Given the description of an element on the screen output the (x, y) to click on. 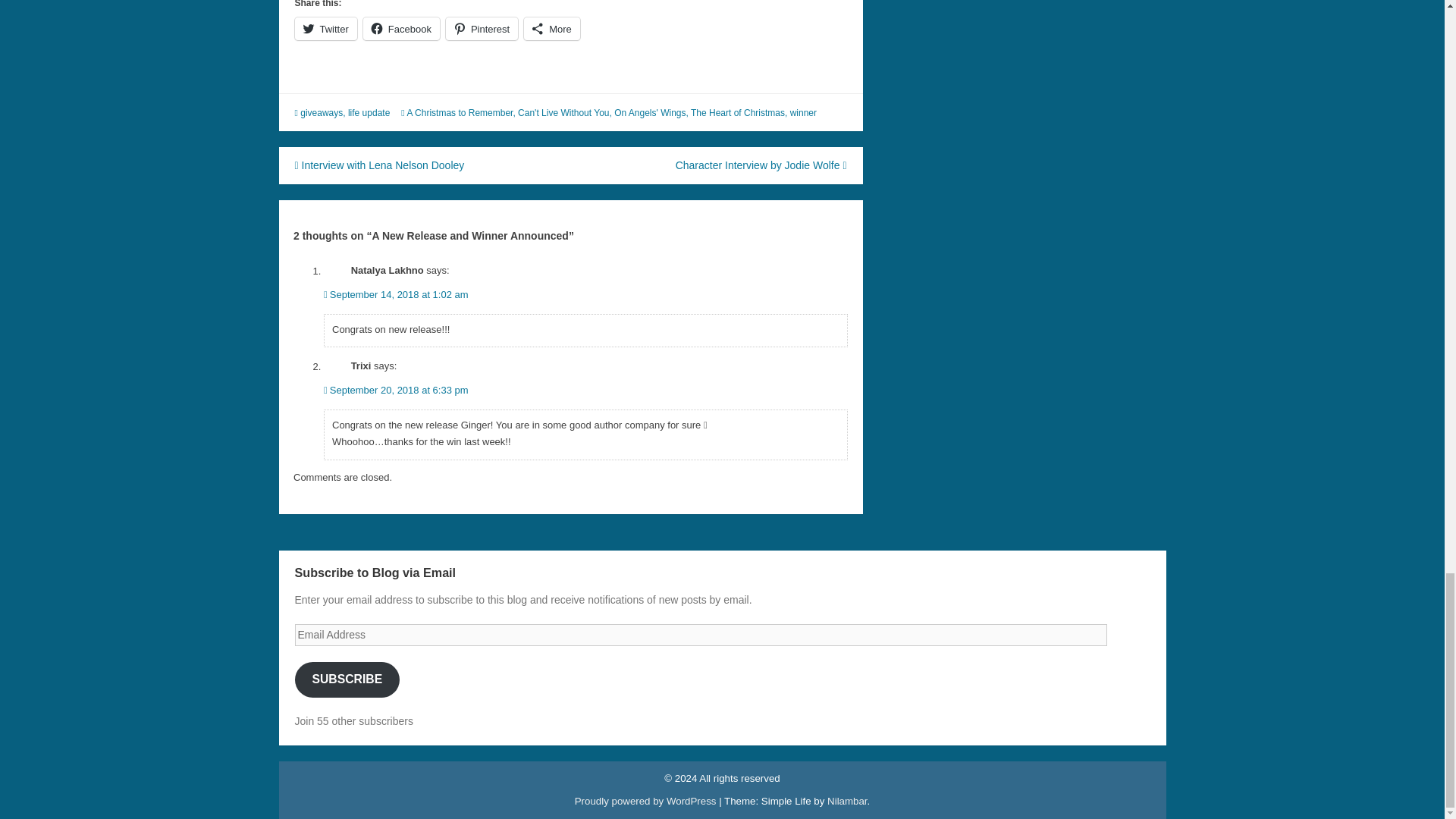
winner (803, 112)
On Angels' Wings (649, 112)
Facebook (400, 28)
Click to share on Twitter (325, 28)
Interview with Lena Nelson Dooley (379, 164)
Character Interview by Jodie Wolfe (761, 164)
Pinterest (481, 28)
life update (368, 112)
The Heart of Christmas (737, 112)
Click to share on Facebook (400, 28)
More (551, 28)
Twitter (325, 28)
A Christmas to Remember (459, 112)
September 14, 2018 at 1:02 am (395, 294)
Can't Live Without You (563, 112)
